Given the description of an element on the screen output the (x, y) to click on. 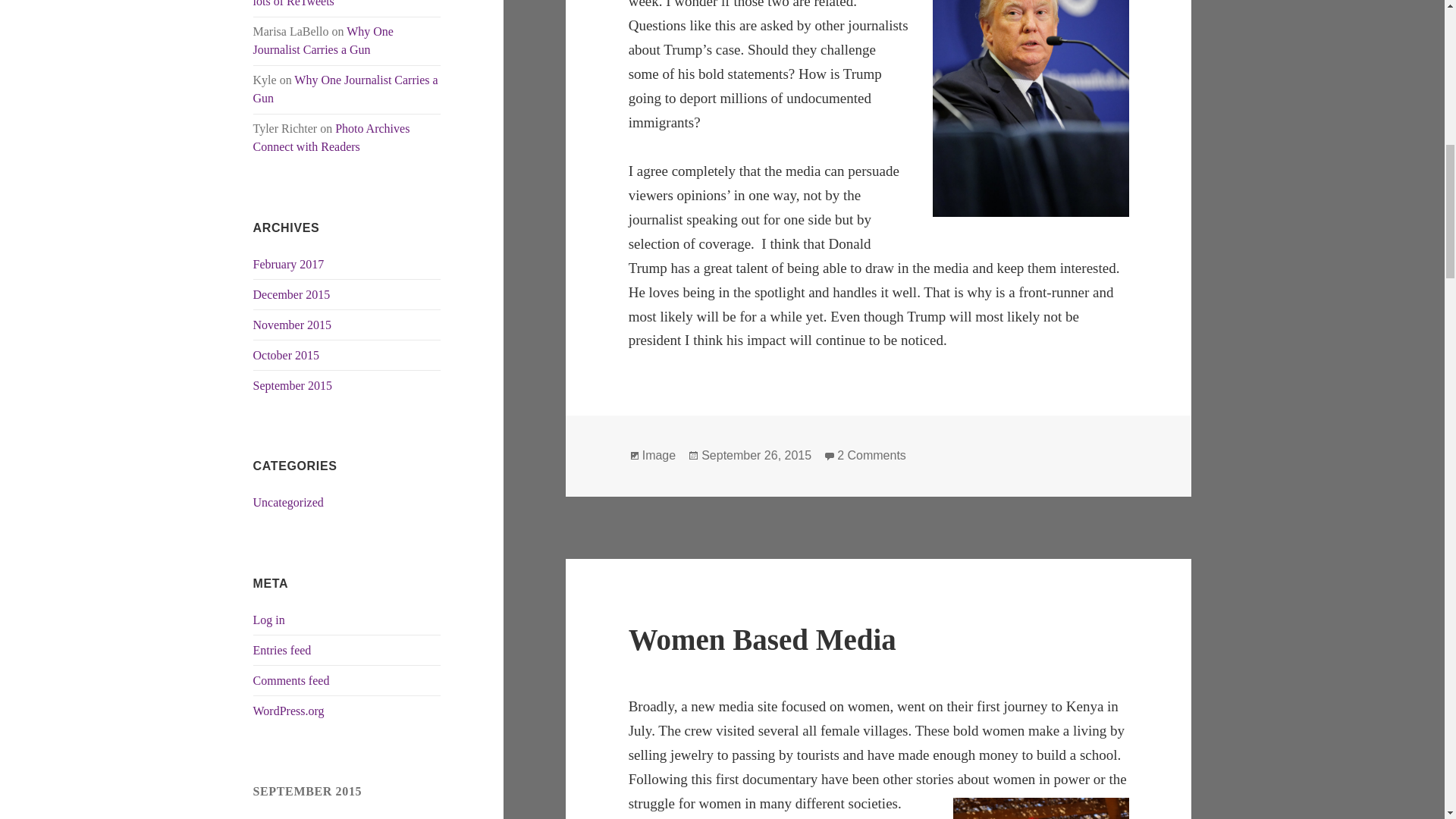
Image (658, 455)
December 2015 (291, 294)
Photo Archives Connect with Readers (331, 137)
URL trick causes lots of ReTweets (340, 3)
September 26, 2015 (755, 455)
November 2015 (292, 324)
September 2015 (292, 385)
WordPress.org (288, 710)
February 2017 (288, 264)
Why One Journalist Carries a Gun (323, 40)
Uncategorized (288, 502)
Comments feed (291, 680)
Women Based Media (762, 639)
October 2015 (286, 354)
Log in (269, 619)
